Given the description of an element on the screen output the (x, y) to click on. 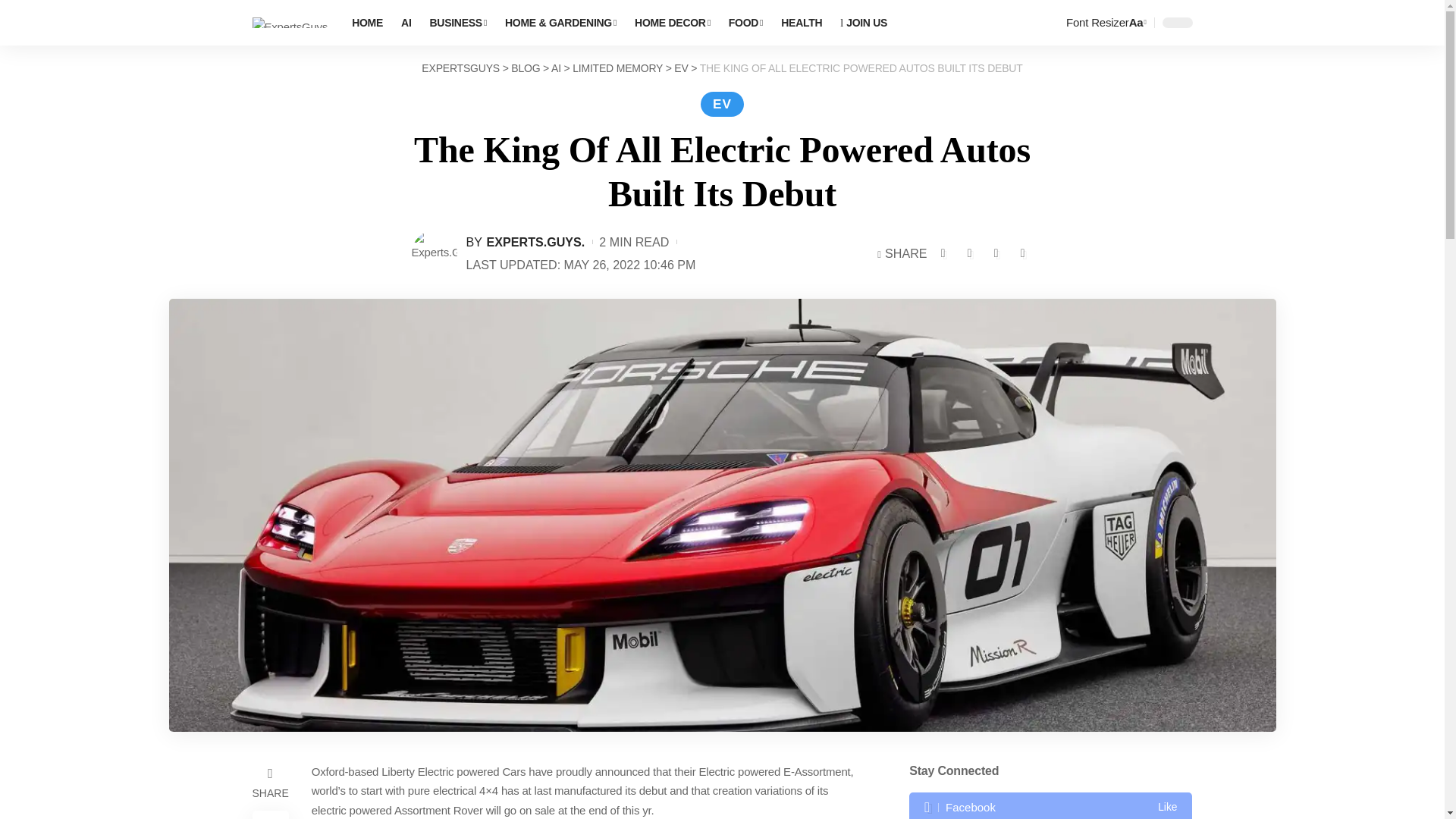
ExpertsGuys (289, 22)
BUSINESS (458, 22)
HOME DECOR (672, 22)
HOME (366, 22)
